Given the description of an element on the screen output the (x, y) to click on. 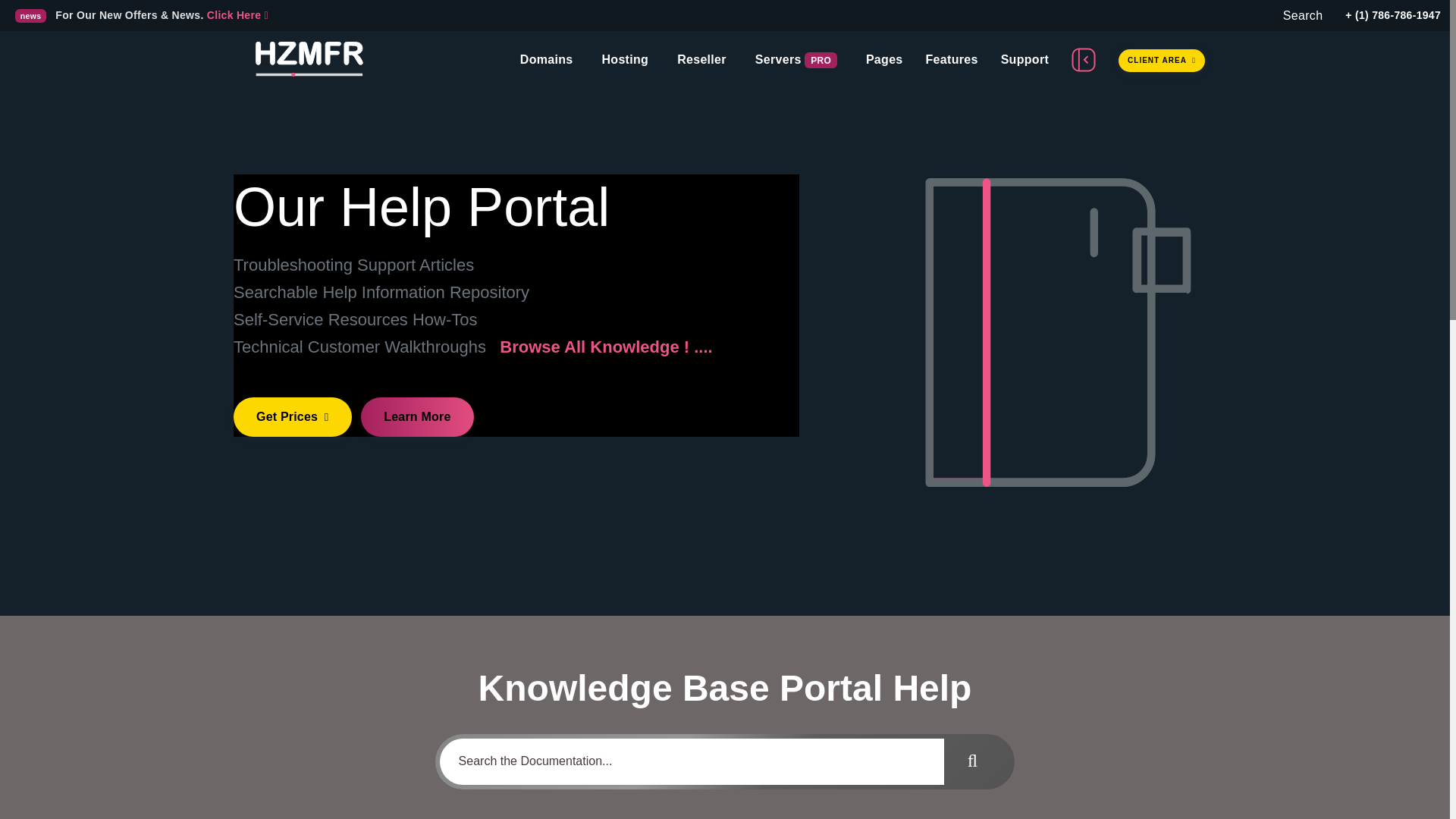
Cloud Overview (236, 15)
Search (1302, 14)
Hosting (624, 59)
Domains (546, 59)
Phone Number (1393, 15)
Login (1161, 58)
Logo Antler (306, 58)
Click Here (236, 15)
Reseller (701, 59)
Pages (884, 59)
Servers (780, 59)
